Given the description of an element on the screen output the (x, y) to click on. 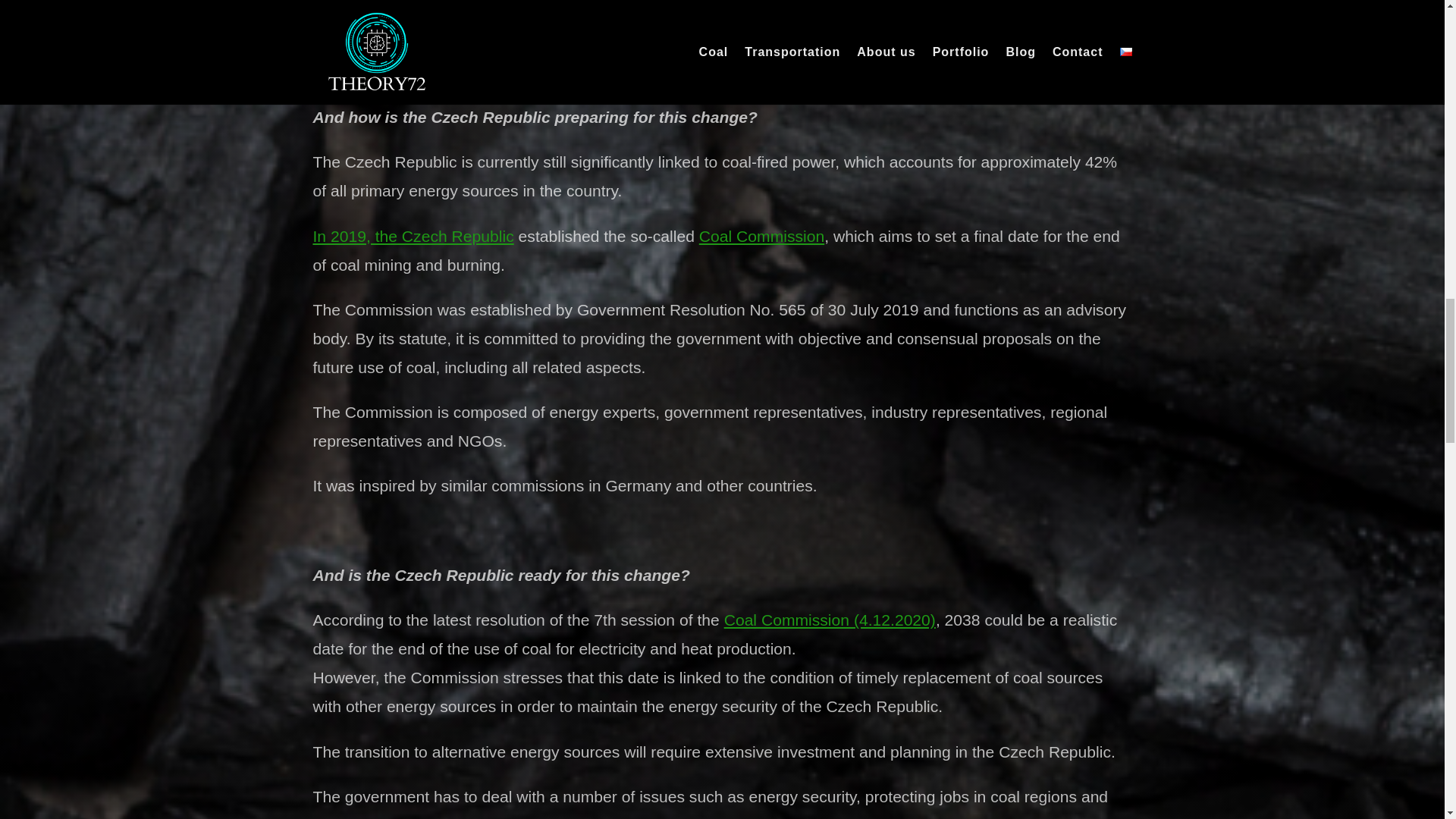
In 2019, the Czech Republic (413, 235)
Coal Commission (761, 235)
